Given the description of an element on the screen output the (x, y) to click on. 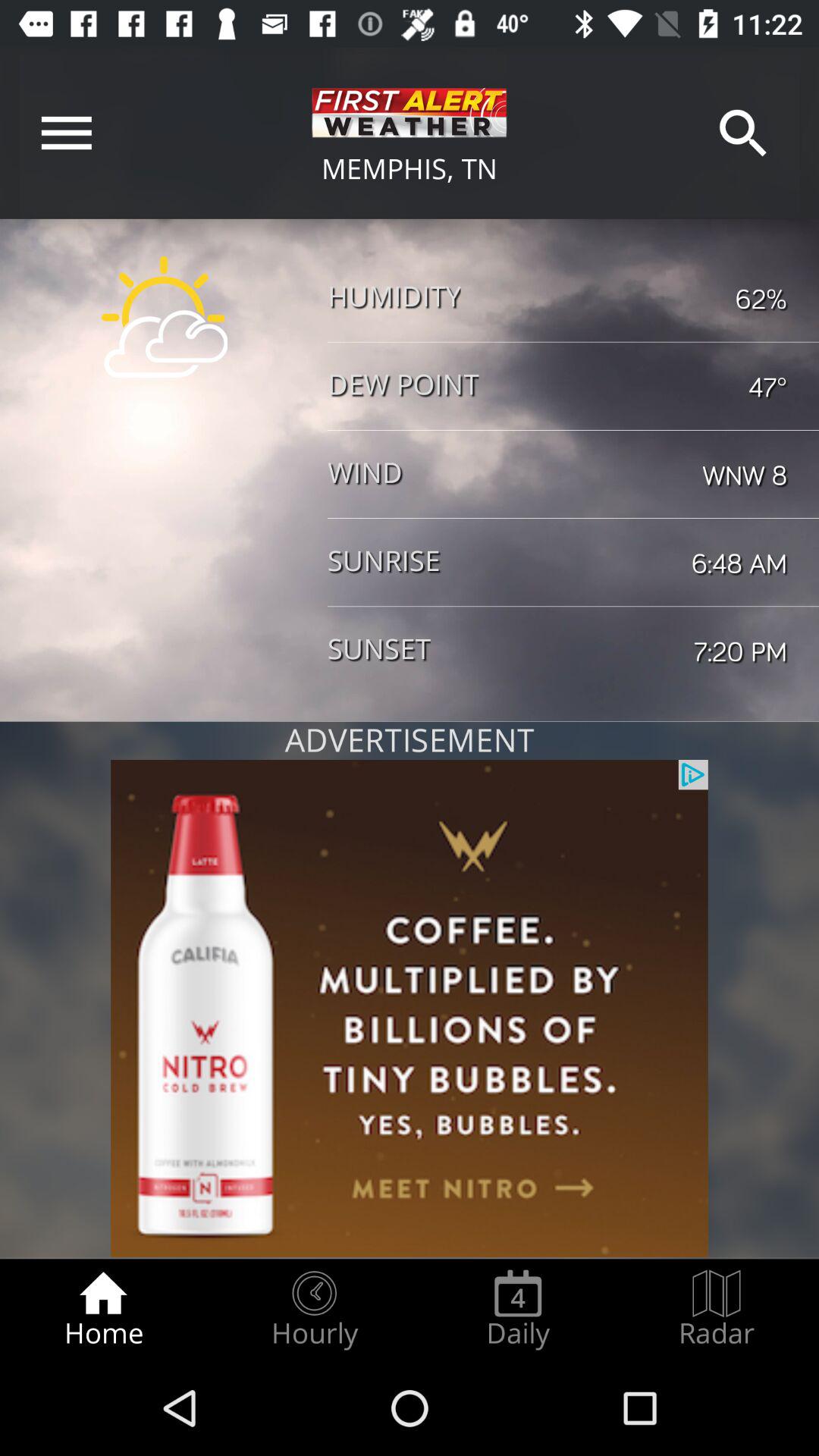
tap the hourly item (314, 1309)
